Given the description of an element on the screen output the (x, y) to click on. 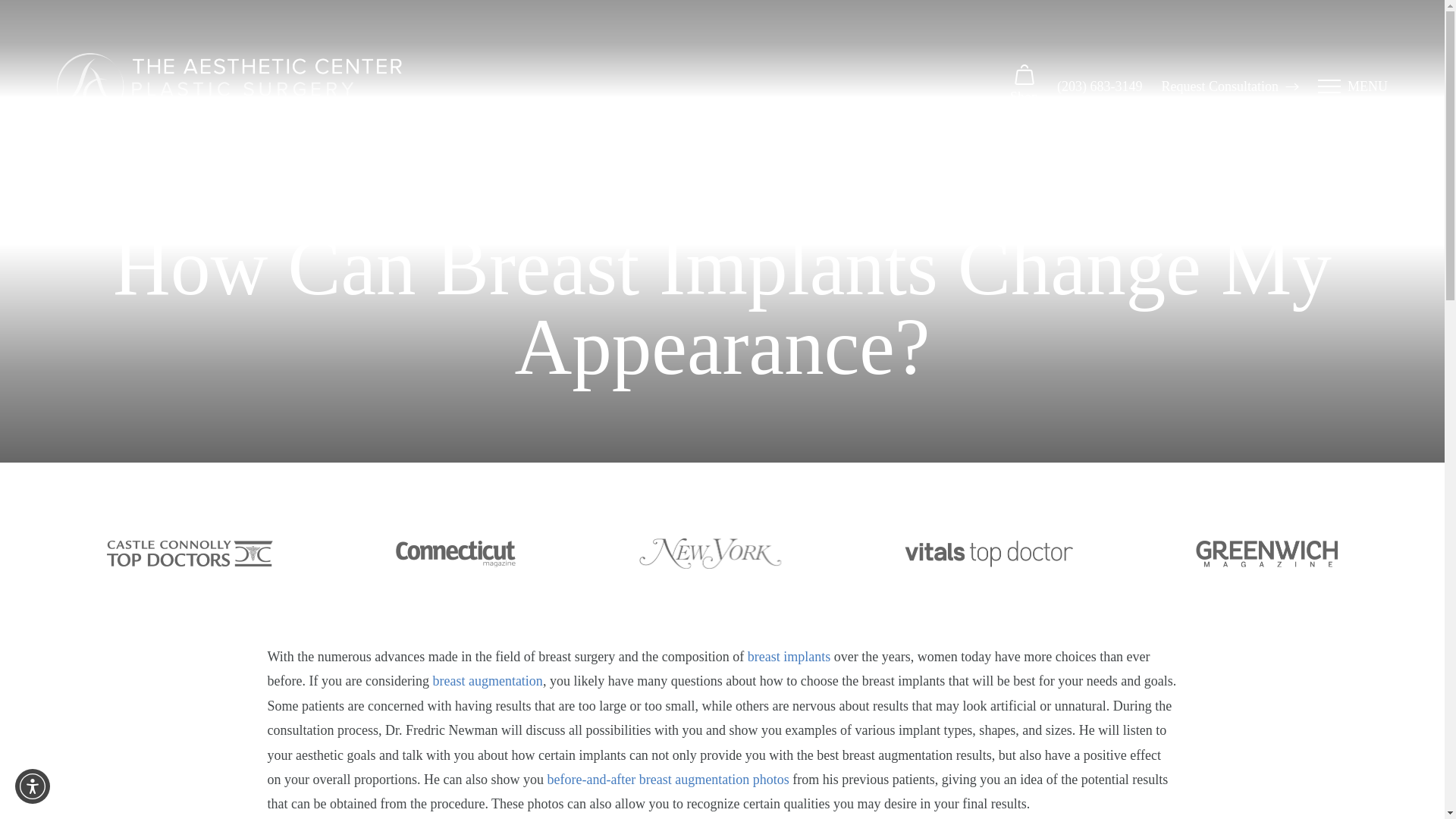
Request Consultation (1230, 86)
